Given the description of an element on the screen output the (x, y) to click on. 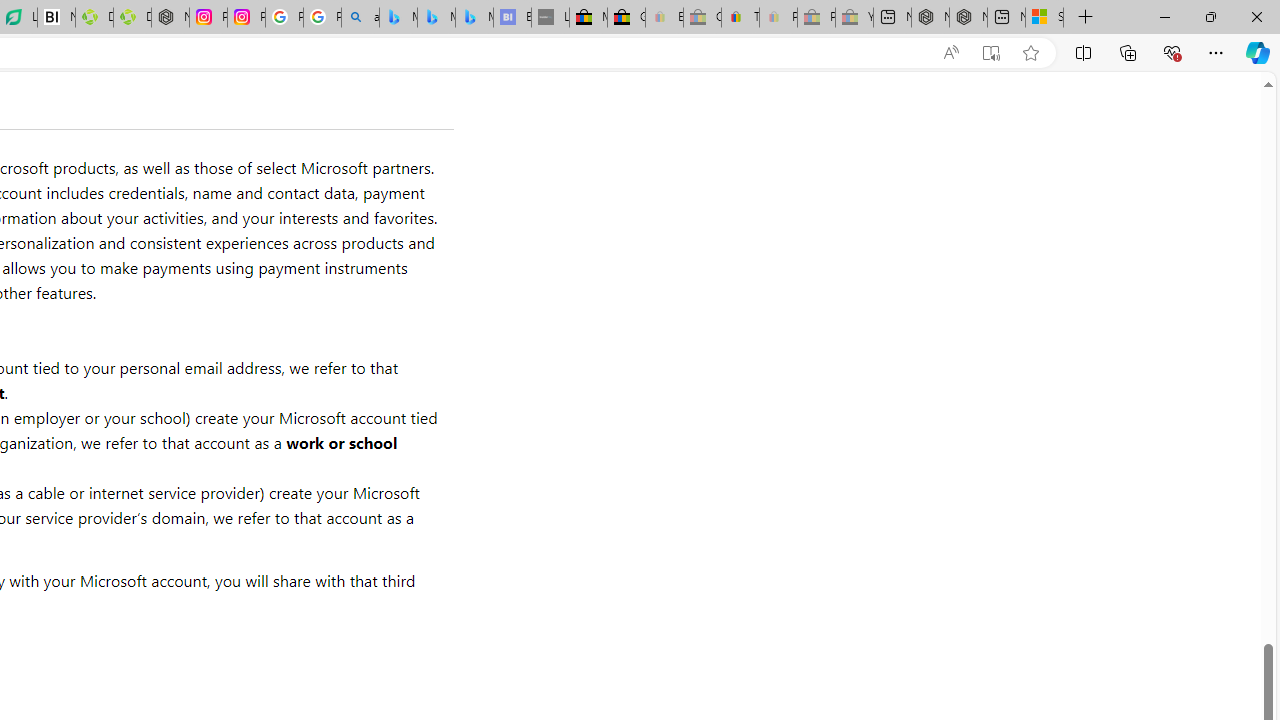
Nordace - Nordace Edin Collection (170, 17)
